Given the description of an element on the screen output the (x, y) to click on. 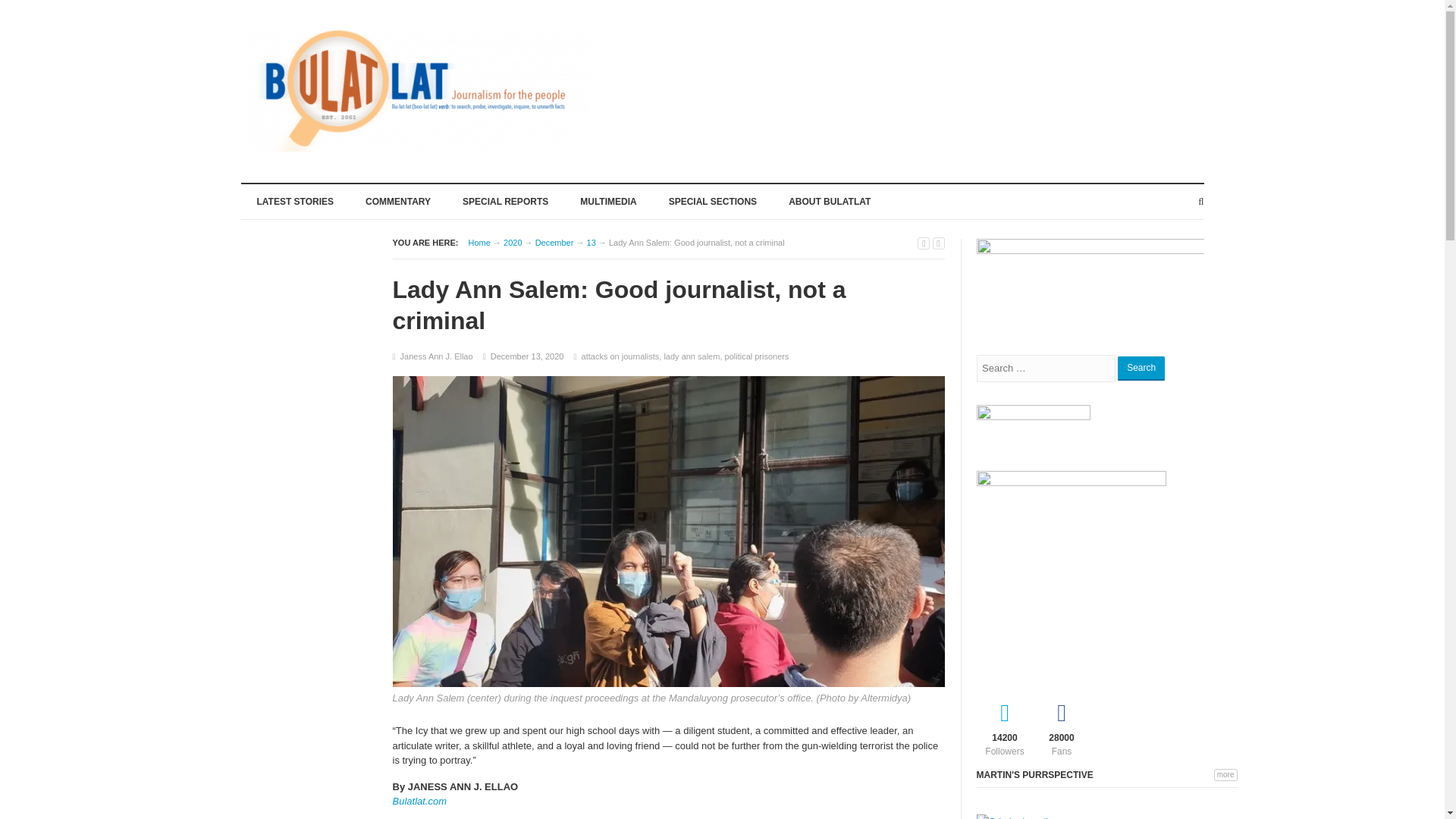
COMMENTARY (397, 200)
SPECIAL SECTIONS (713, 200)
MULTIMEDIA (608, 200)
Facebook (1060, 726)
LATEST STORIES (296, 200)
Sunday, December 13, 2020, 1:16 pm (527, 356)
Bulatlat (479, 242)
SPECIAL REPORTS (505, 200)
Twitter (1004, 726)
